Given the description of an element on the screen output the (x, y) to click on. 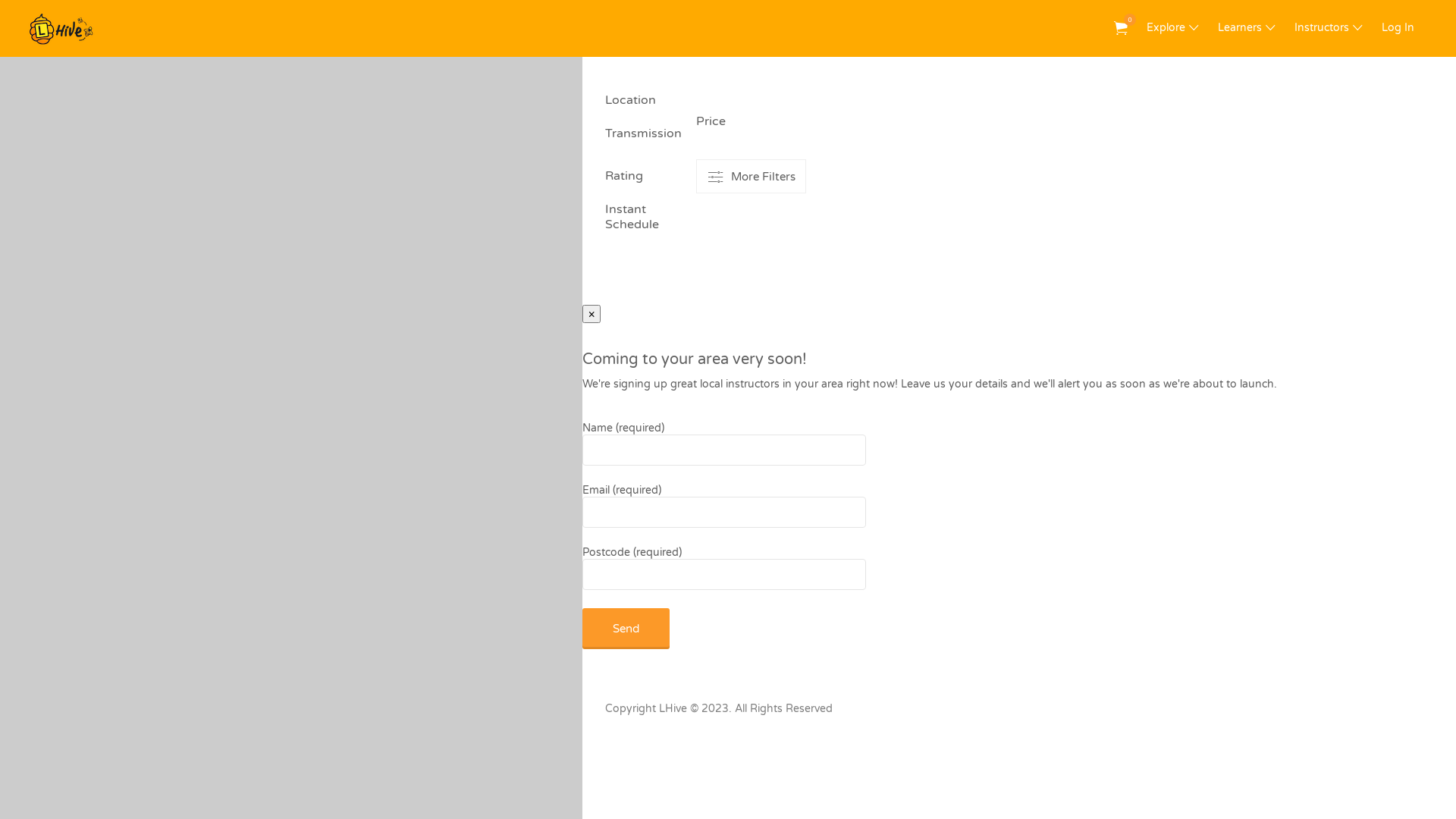
0
Items Element type: text (1120, 28)
Instructors Element type: text (1321, 27)
Search This Location Element type: text (522, 18)
Log In Element type: text (1397, 27)
Explore Element type: text (1165, 27)
Learners Element type: text (1239, 27)
Send Element type: text (625, 628)
More Filters Element type: text (751, 176)
